Given the description of an element on the screen output the (x, y) to click on. 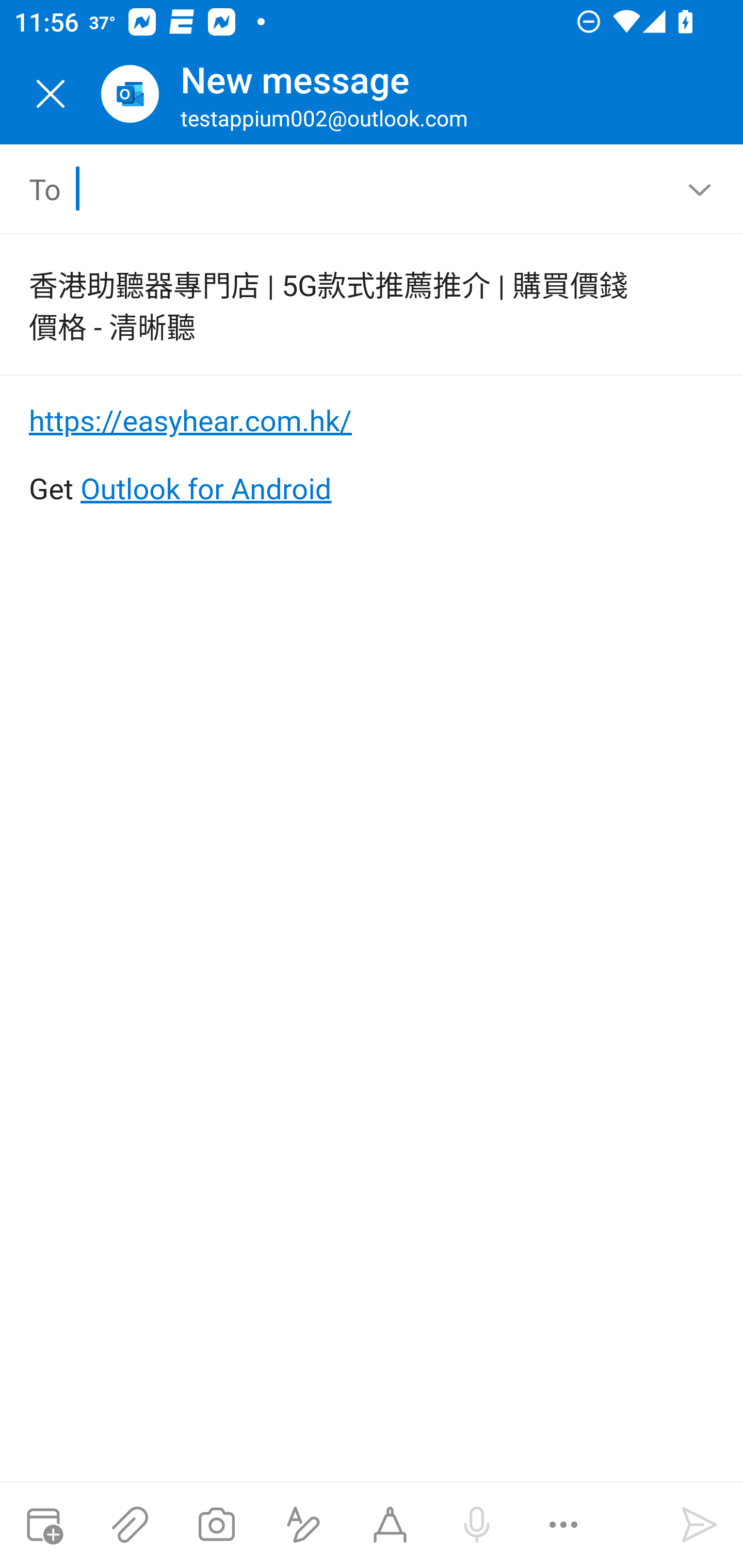
Close (50, 93)
香港助聽器專門店 | 5G款式推薦推介 | 購買價錢價格 - 清晰聽 (342, 303)
https://easyhear.com.hk/
Get Outlook for Android (372, 455)
Attach meeting (43, 1524)
Attach files (129, 1524)
Take a photo (216, 1524)
Show formatting options (303, 1524)
Start Ink compose (389, 1524)
More options (563, 1524)
Send (699, 1524)
